Given the description of an element on the screen output the (x, y) to click on. 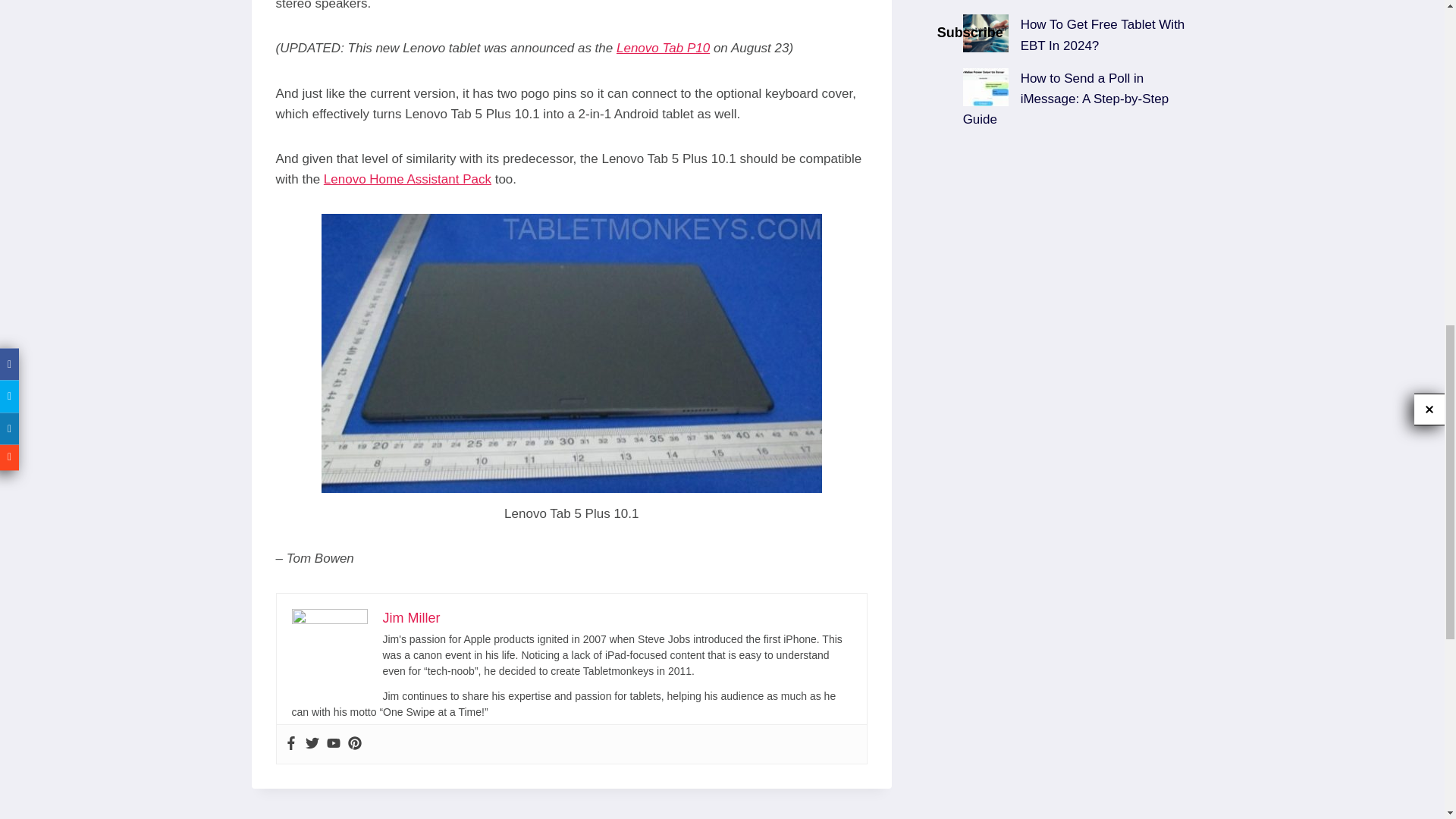
Twitter (311, 744)
Youtube (332, 744)
Facebook (290, 744)
Pinterest (354, 744)
Lenovo Tab P10 (662, 47)
